Given the description of an element on the screen output the (x, y) to click on. 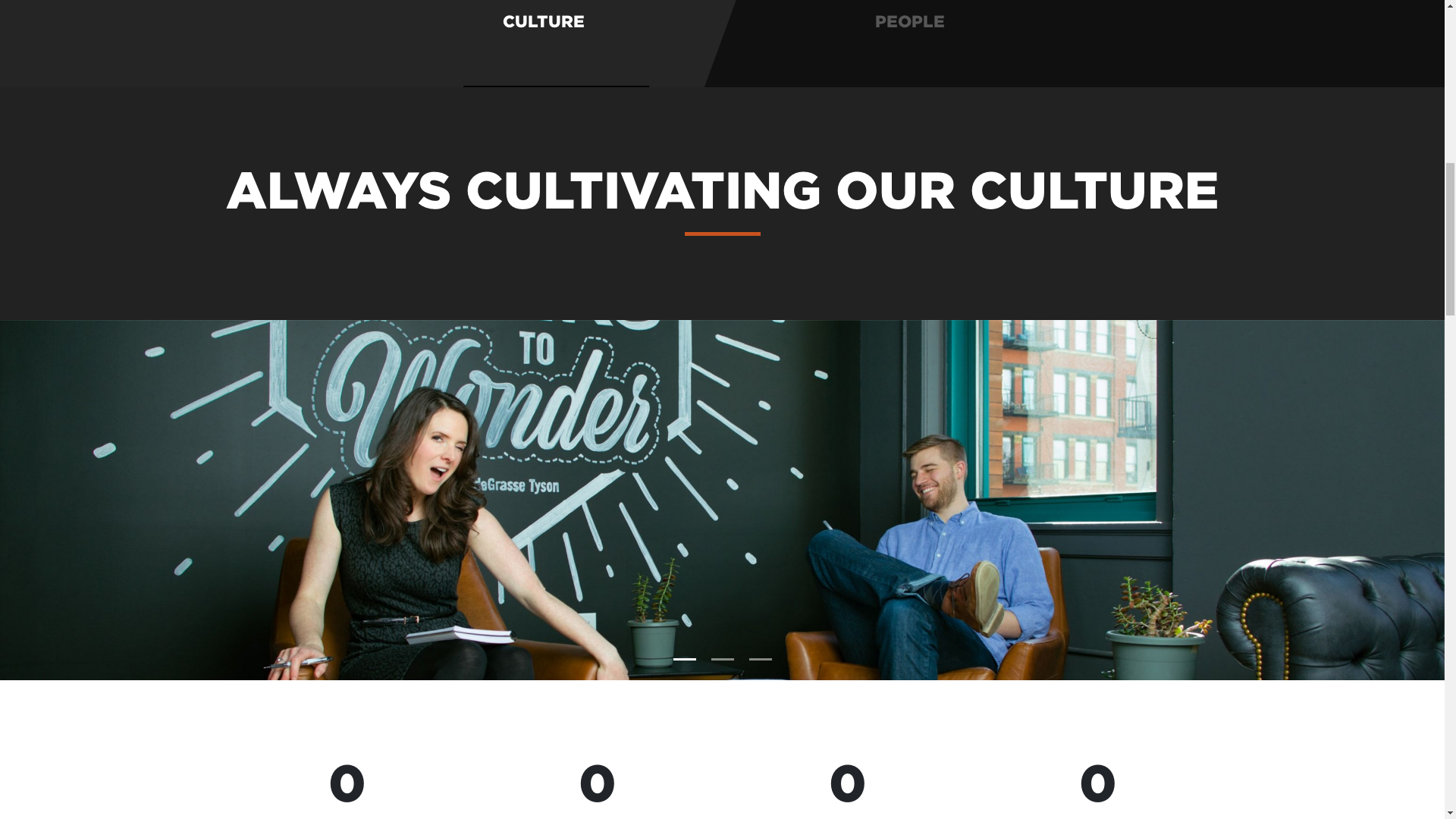
PEOPLE (909, 43)
CULTURE (518, 43)
